Given the description of an element on the screen output the (x, y) to click on. 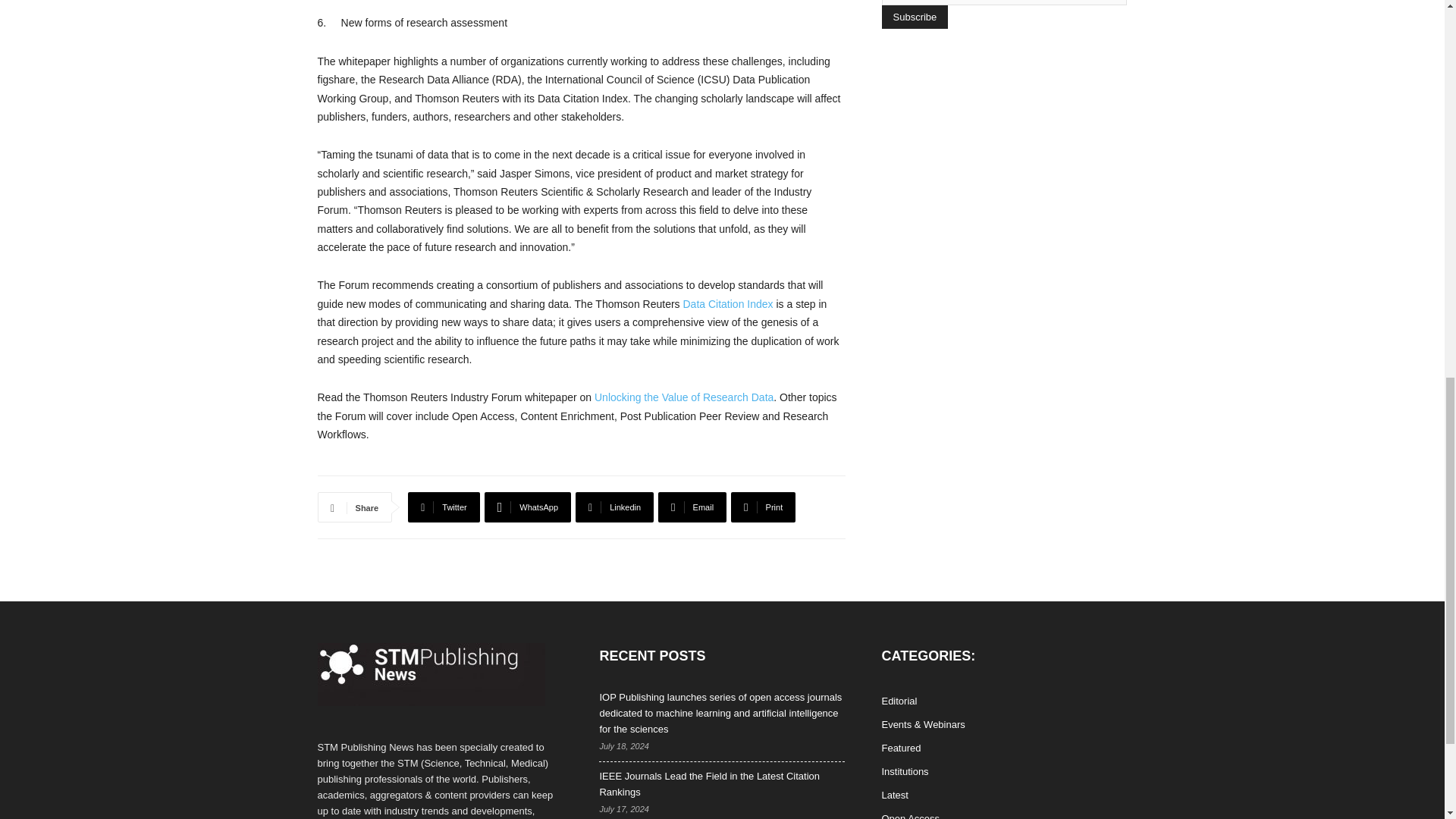
Subscribe (913, 16)
